Given the description of an element on the screen output the (x, y) to click on. 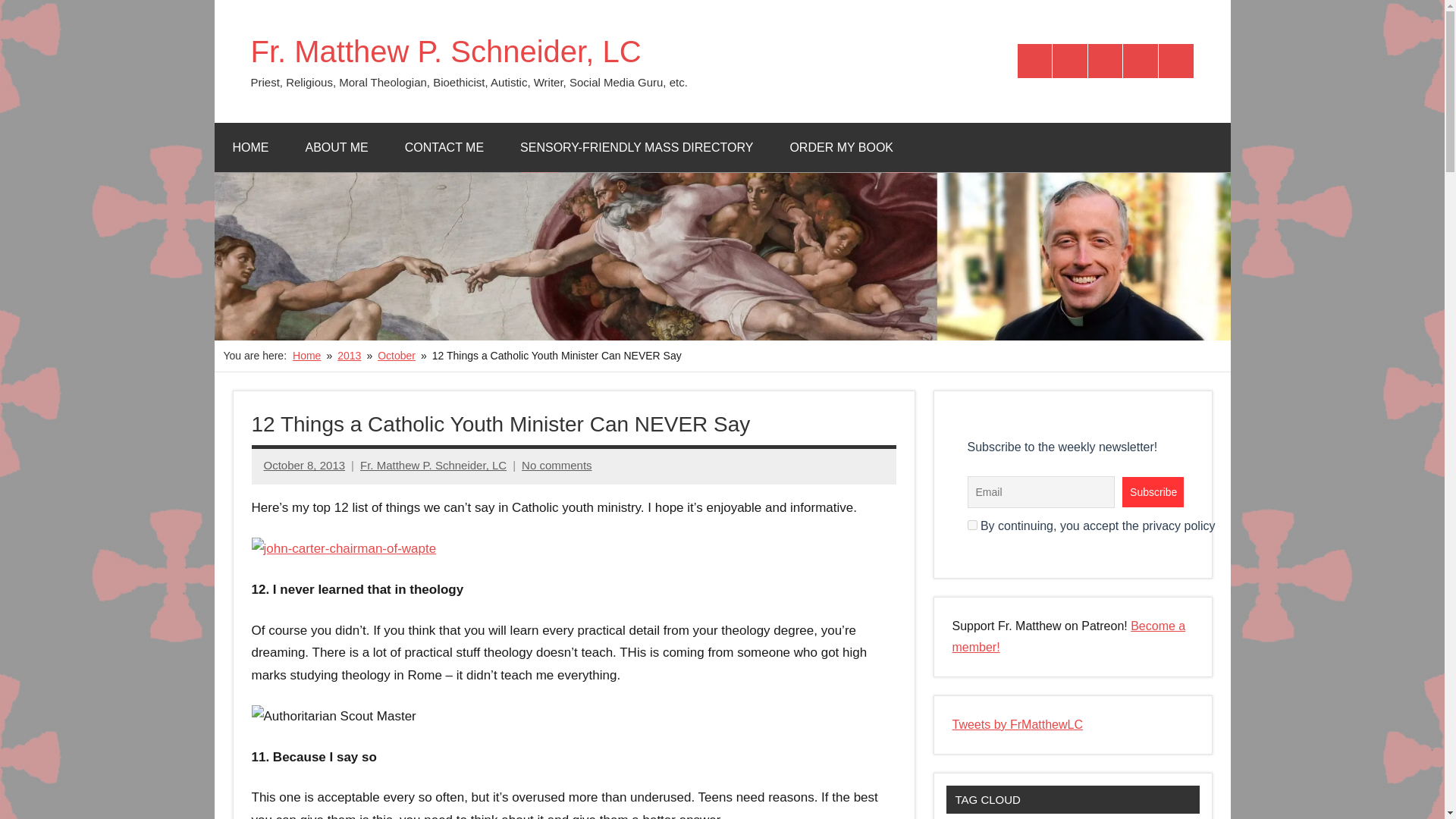
Twitter (1034, 61)
ORDER MY BOOK (841, 146)
No comments (556, 464)
on (972, 524)
CONTACT ME (444, 146)
2013 (349, 355)
HOME (250, 146)
Home (306, 355)
ABOUT ME (335, 146)
Subscribe (1152, 491)
